Given the description of an element on the screen output the (x, y) to click on. 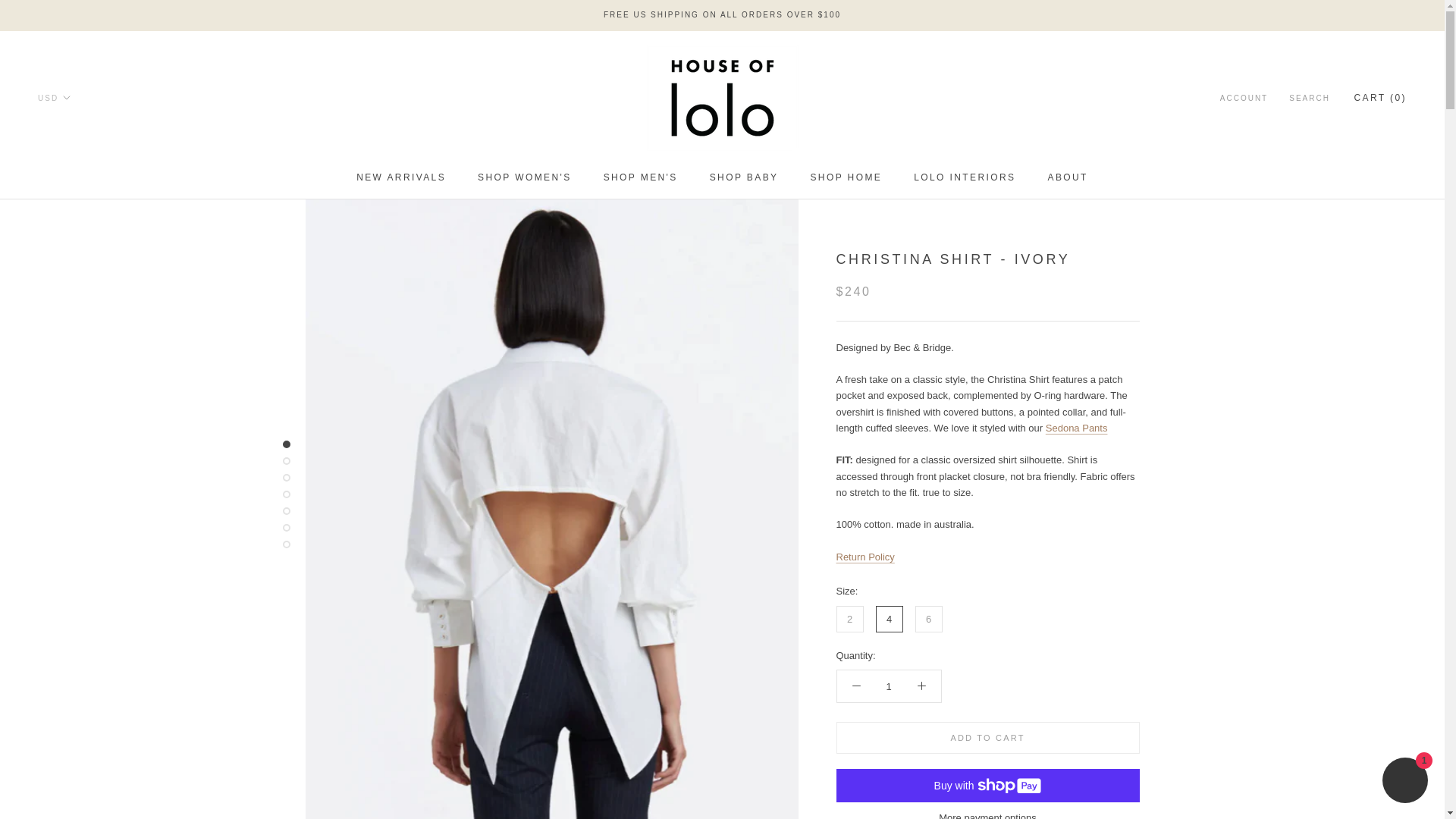
Currency selector (53, 98)
SHOP WOMEN'S (400, 176)
1 (524, 176)
Shopify online store chat (888, 686)
